Given the description of an element on the screen output the (x, y) to click on. 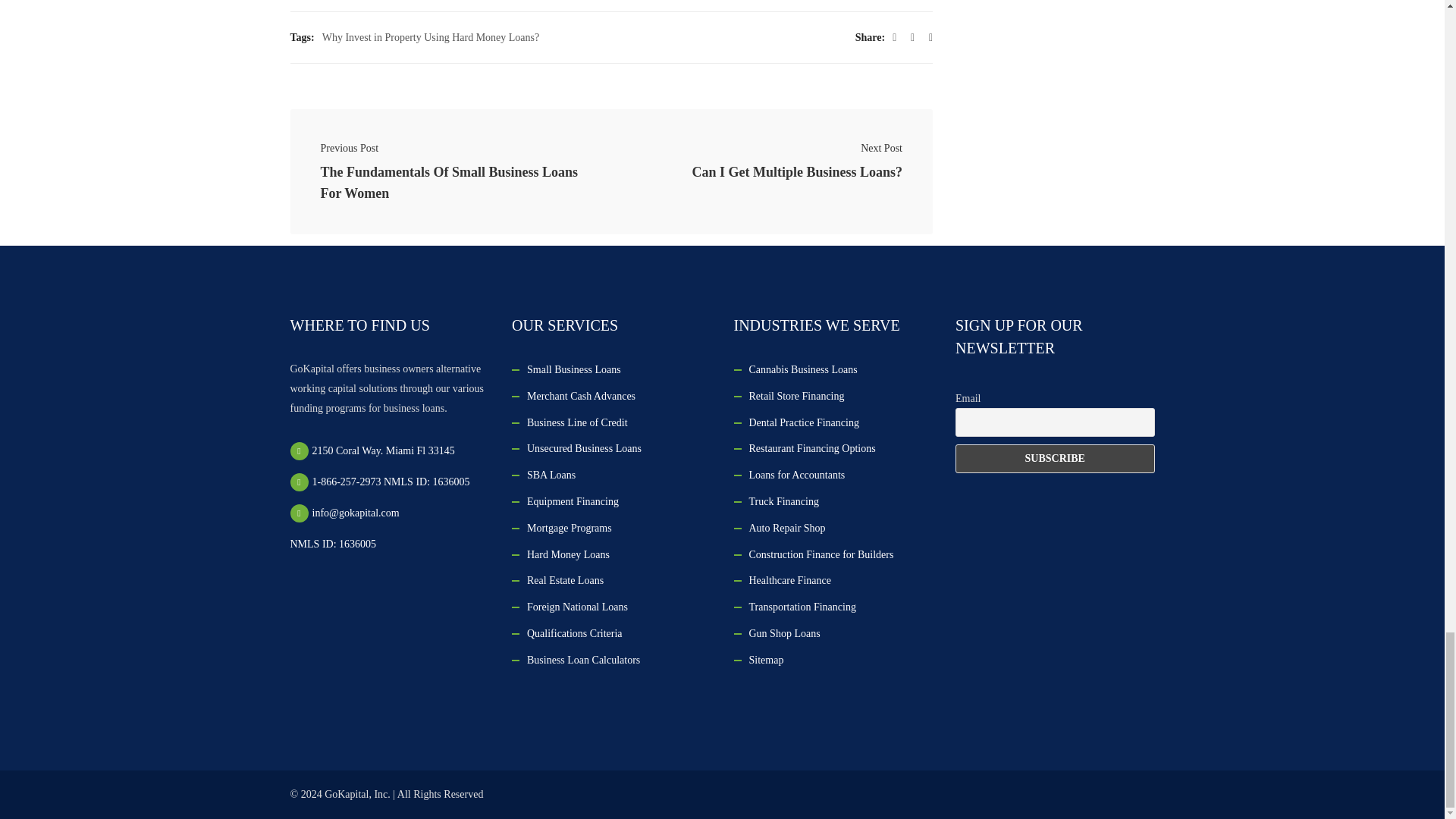
Twitter (912, 37)
Subscribe (1054, 458)
Google Plus (930, 37)
Facebook (894, 37)
